Given the description of an element on the screen output the (x, y) to click on. 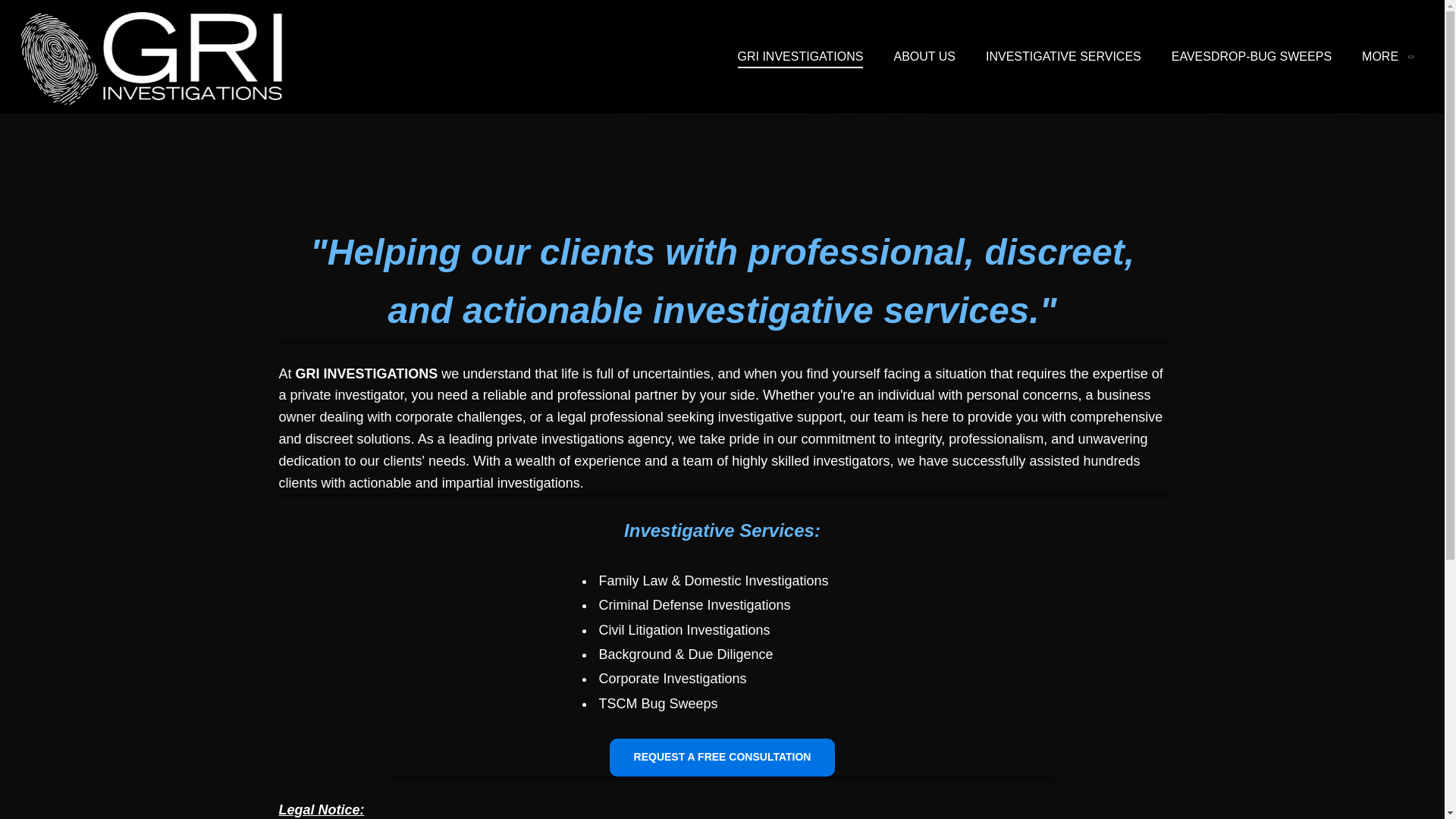
ABOUT US (924, 56)
GRI INVESTIGATIONS (799, 56)
MORE (1386, 56)
EAVESDROP-BUG SWEEPS (1251, 56)
REQUEST A FREE CONSULTATION (722, 757)
INVESTIGATIVE SERVICES (1063, 56)
